Given the description of an element on the screen output the (x, y) to click on. 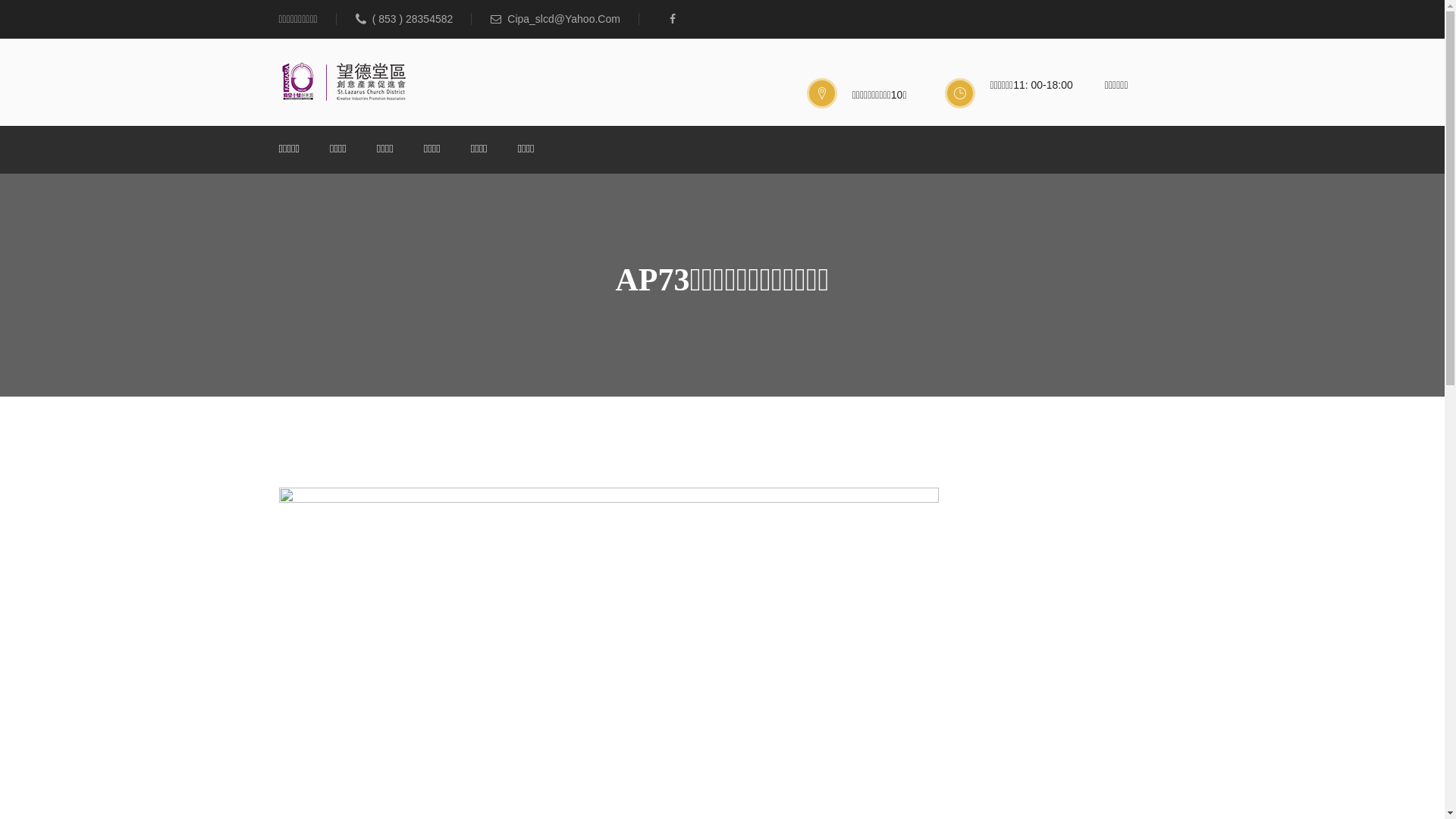
( 853 ) 28354582 Element type: text (413, 18)
Theme Element type: hover (344, 81)
Cipa_Slcd@Yahoo.Com Element type: text (564, 18)
